Given the description of an element on the screen output the (x, y) to click on. 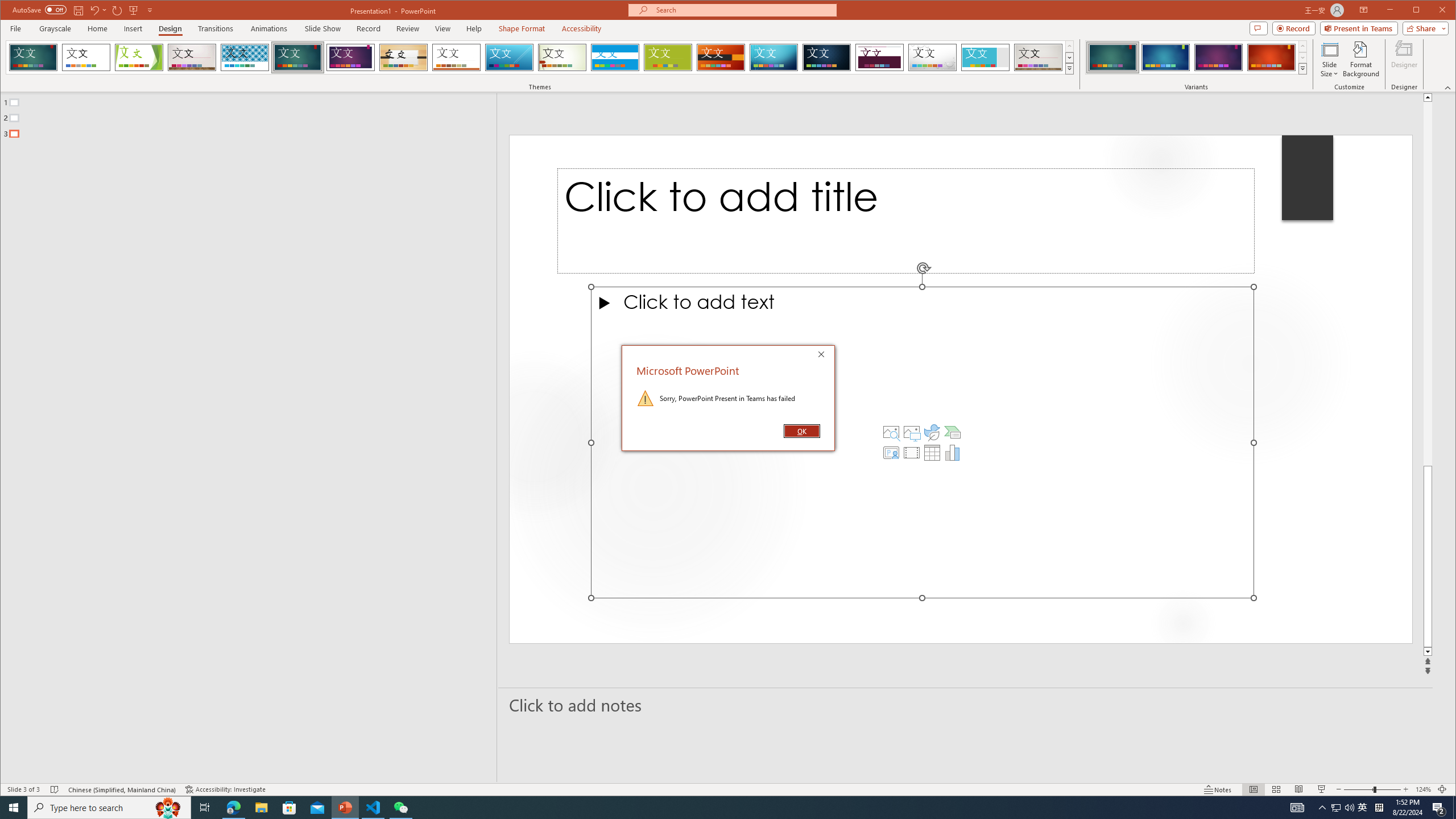
Insert a SmartArt Graphic (952, 432)
Tray Input Indicator - Chinese (Simplified, China) (1378, 807)
Row Down (1302, 57)
Berlin (720, 57)
Insert Table (931, 452)
Title TextBox (906, 220)
Designer (1404, 59)
Show desktop (1362, 807)
Retrospect (1454, 807)
Q2790: 100% (1335, 807)
